Given the description of an element on the screen output the (x, y) to click on. 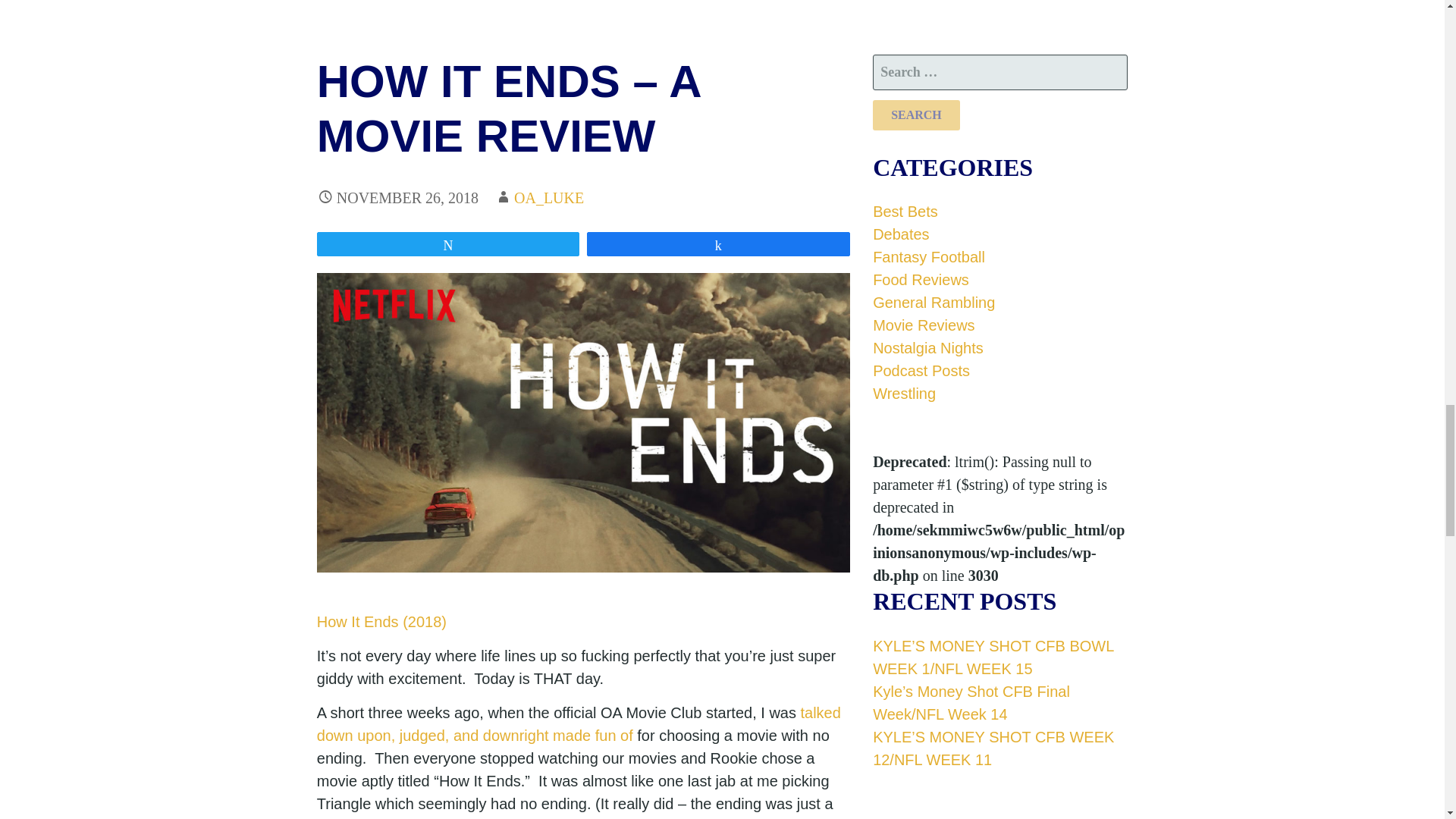
General Rambling (933, 302)
Best Bets (904, 211)
Podcast Posts (920, 370)
Search (915, 114)
talked down upon, judged, and downright made fun of (579, 723)
Wrestling (904, 393)
Search (915, 114)
Movie Reviews (923, 324)
Search (915, 114)
Food Reviews (920, 279)
